Given the description of an element on the screen output the (x, y) to click on. 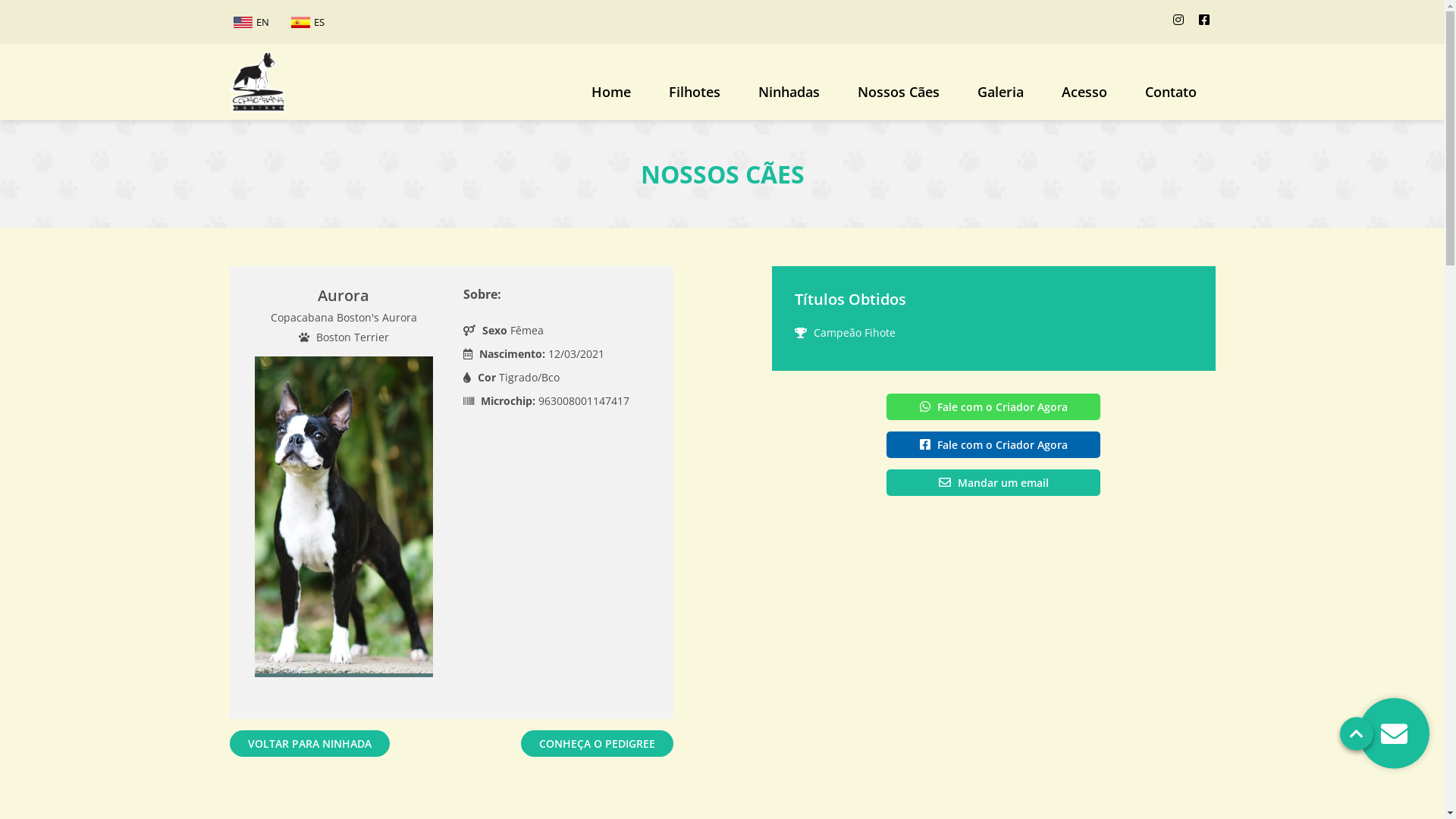
Mandar um email Element type: text (993, 482)
Contato Element type: text (1169, 97)
Filhotes Element type: text (693, 97)
Fale com o Criador Agora Element type: text (993, 444)
Home Element type: hover (257, 81)
ES Element type: text (306, 21)
Instagram Element type: hover (1177, 19)
EN Element type: text (250, 21)
Fale com o Criador Agora Element type: text (993, 406)
VOLTAR PARA NINHADA Element type: text (309, 743)
Home Element type: text (610, 97)
Facebook Element type: hover (1203, 19)
Acesso Element type: text (1083, 97)
